Given the description of an element on the screen output the (x, y) to click on. 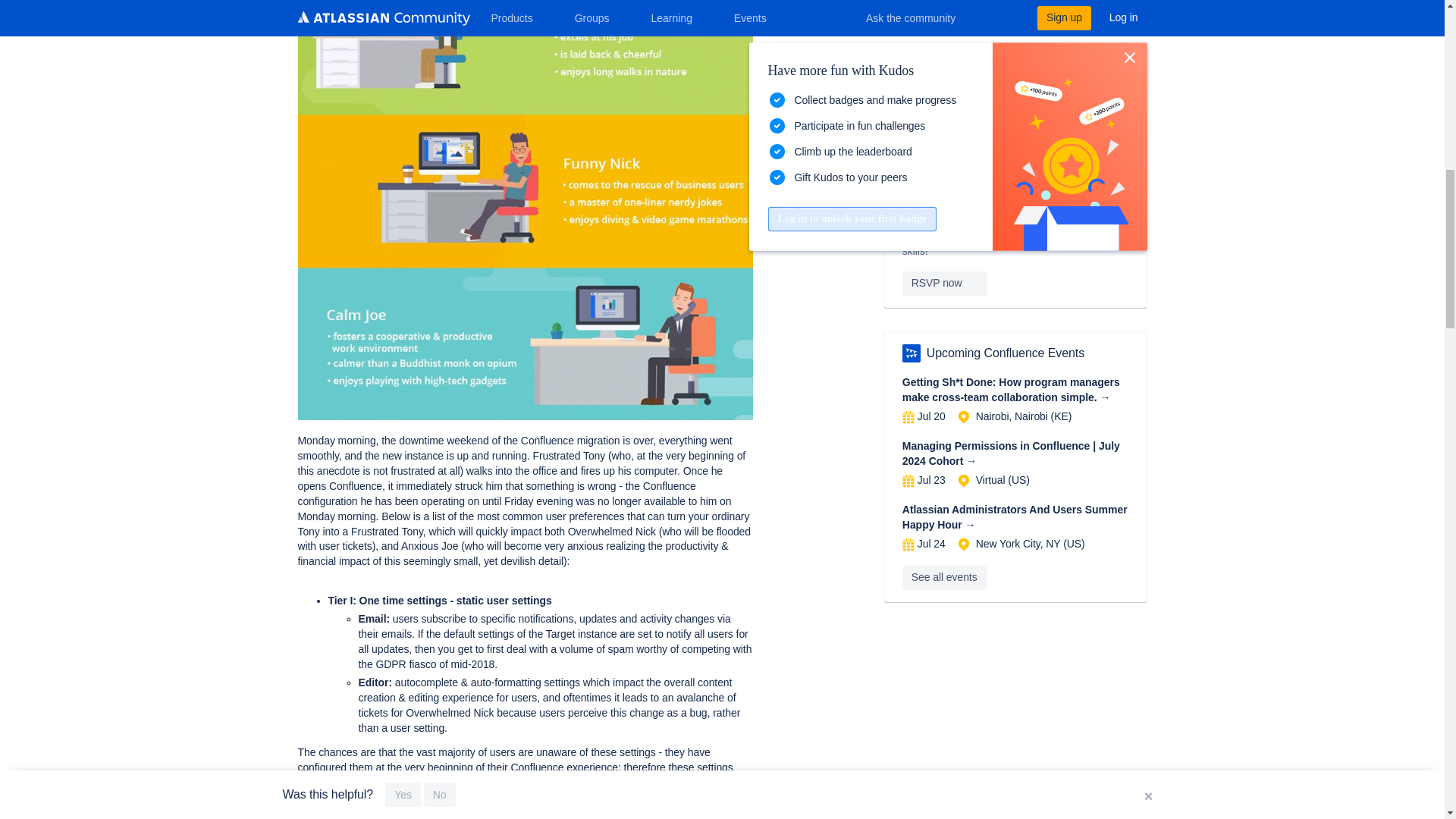
AUG Leaders (911, 352)
